Given the description of an element on the screen output the (x, y) to click on. 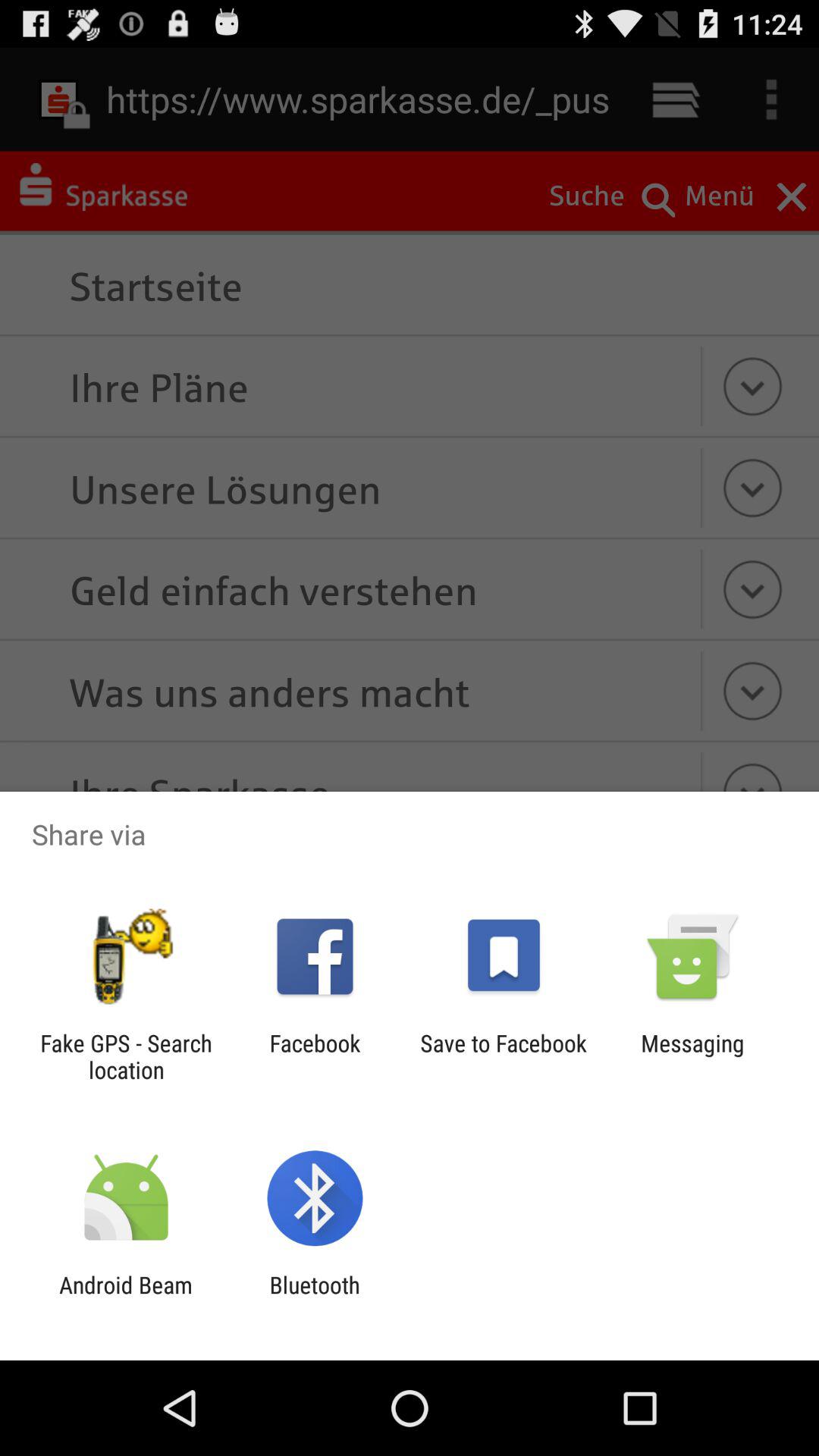
select the icon next to android beam item (314, 1298)
